Given the description of an element on the screen output the (x, y) to click on. 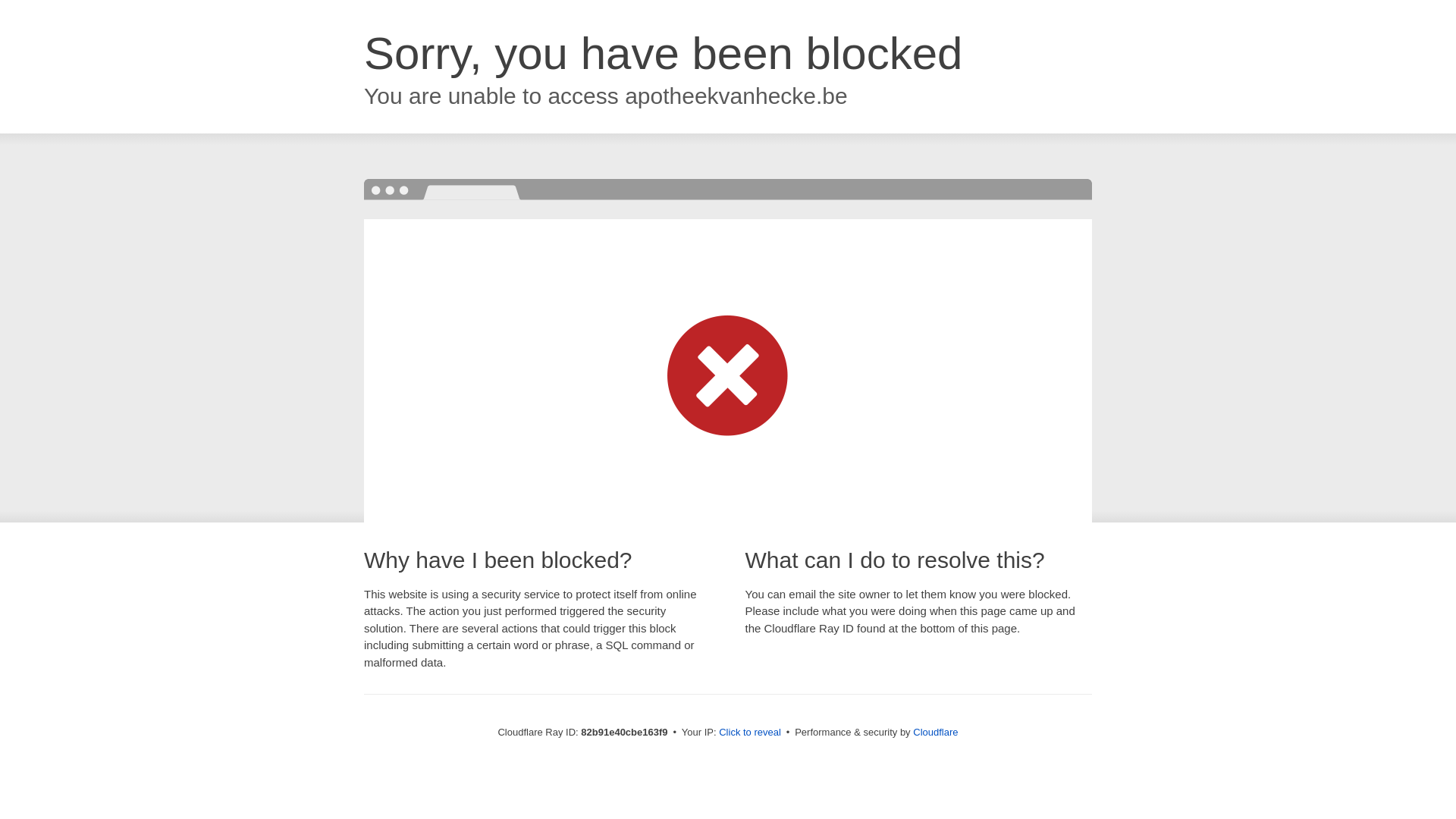
Cloudflare Element type: text (935, 731)
Click to reveal Element type: text (749, 732)
